Given the description of an element on the screen output the (x, y) to click on. 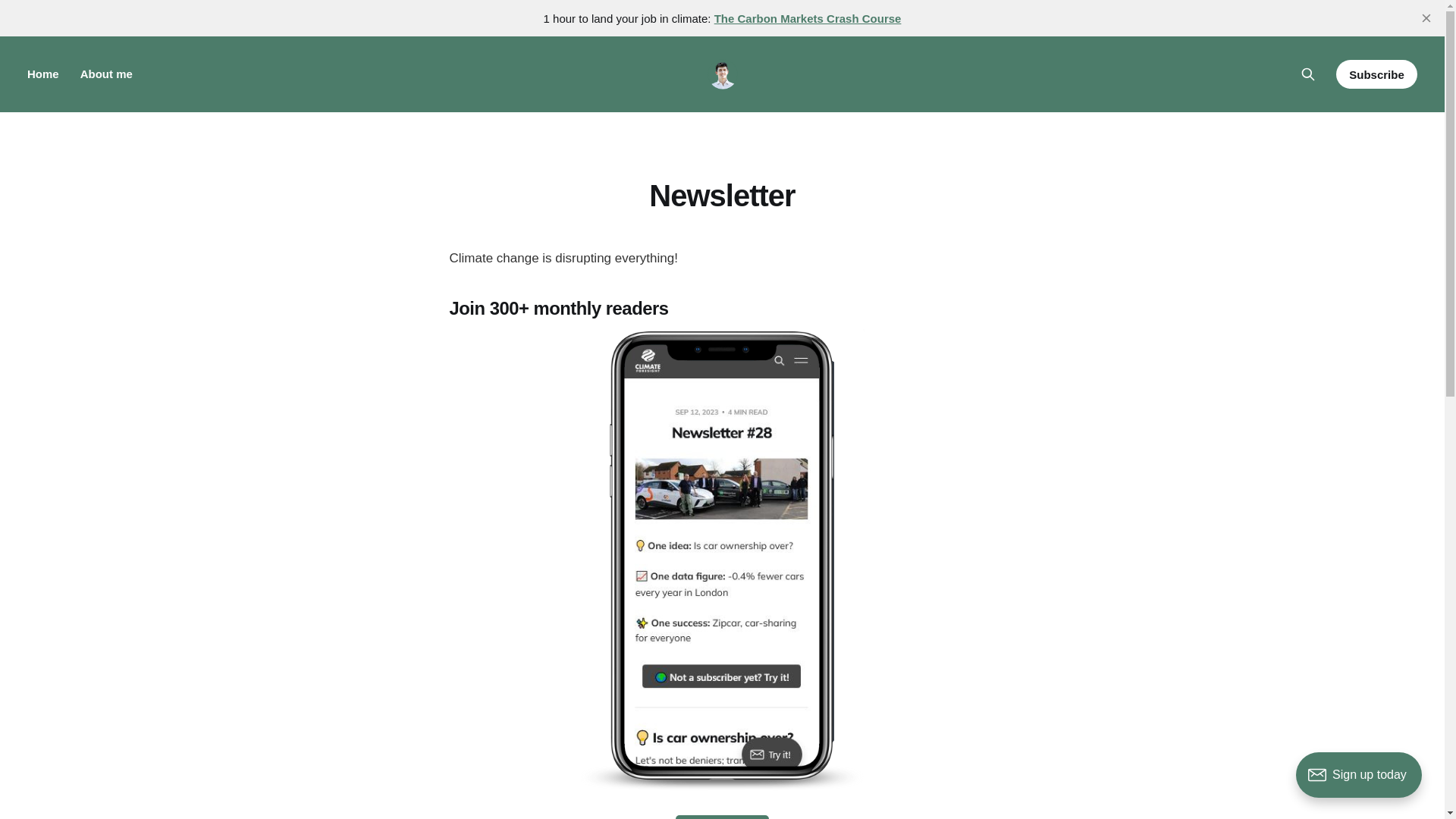
The Carbon Markets Crash Course (807, 18)
About me (106, 73)
Home (43, 73)
Subscribe (1376, 73)
Subscribe (721, 816)
